Given the description of an element on the screen output the (x, y) to click on. 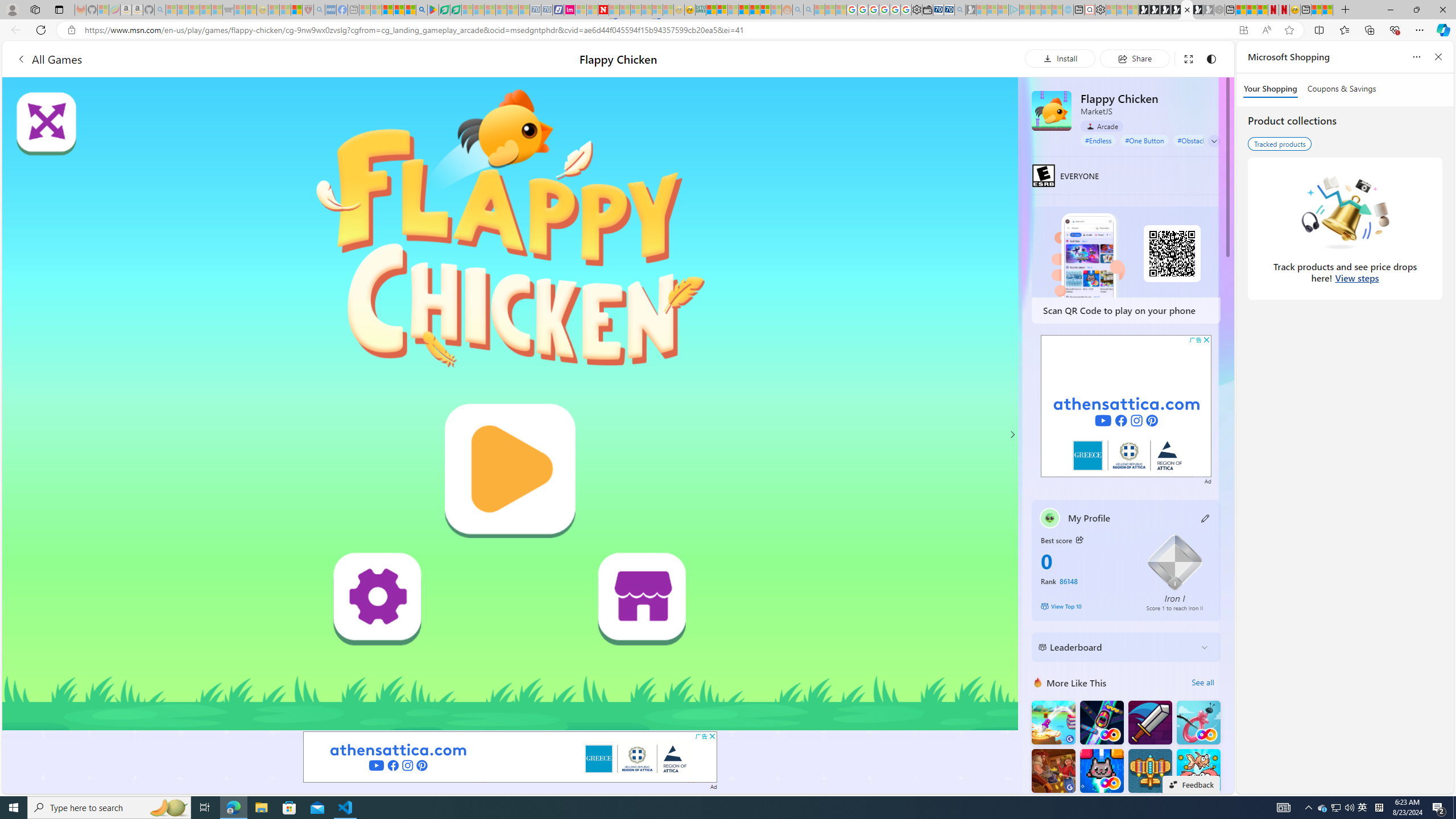
AutomationID: cbb (1206, 339)
See all (1202, 682)
Leaderboard (1116, 647)
Latest Politics News & Archive | Newsweek.com (602, 9)
